Given the description of an element on the screen output the (x, y) to click on. 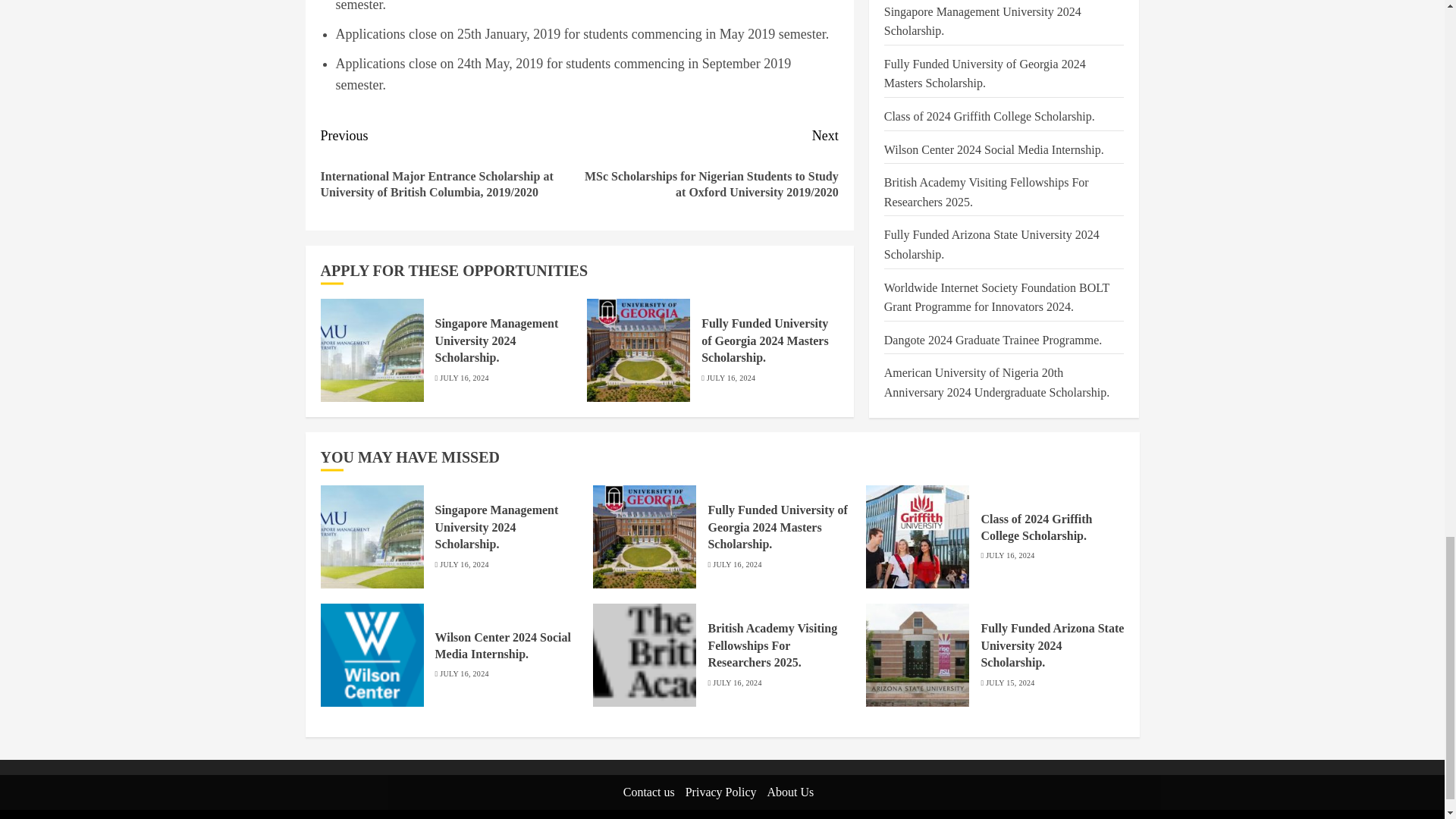
Singapore Management University 2024 Scholarship. (497, 340)
JULY 16, 2024 (463, 378)
Singapore Management University 2024 Scholarship. (371, 350)
JULY 16, 2024 (730, 378)
Fully Funded University of Georgia 2024 Masters Scholarship. (638, 350)
Fully Funded University of Georgia 2024 Masters Scholarship. (764, 340)
